Given the description of an element on the screen output the (x, y) to click on. 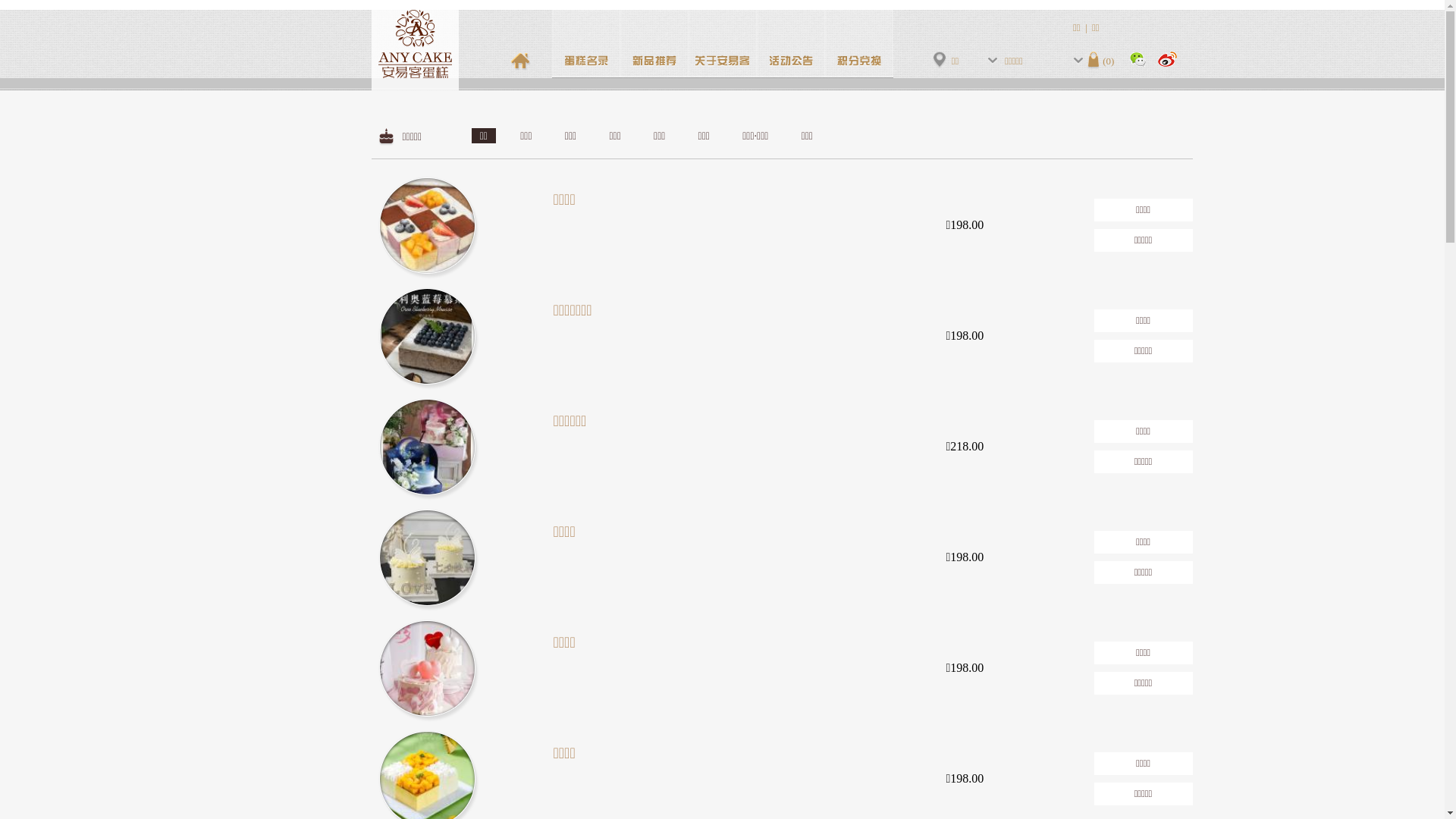
(0) Element type: text (1100, 60)
